Given the description of an element on the screen output the (x, y) to click on. 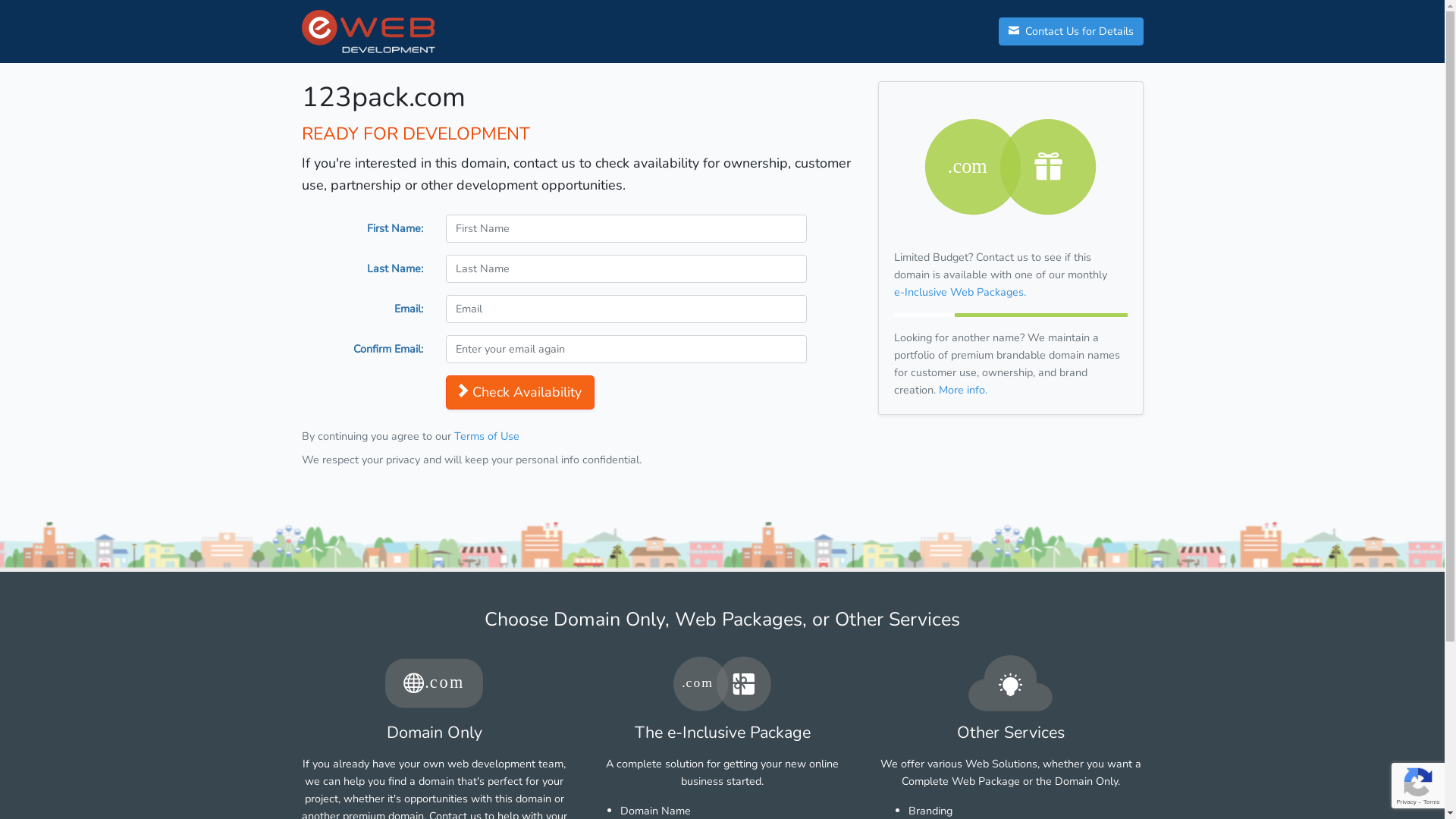
e-Inclusive Web Packages. Element type: text (959, 291)
More info. Element type: text (962, 389)
Terms of Use Element type: text (485, 435)
Contact Us for Details Element type: text (1069, 31)
Check Availability Element type: text (519, 392)
